Given the description of an element on the screen output the (x, y) to click on. 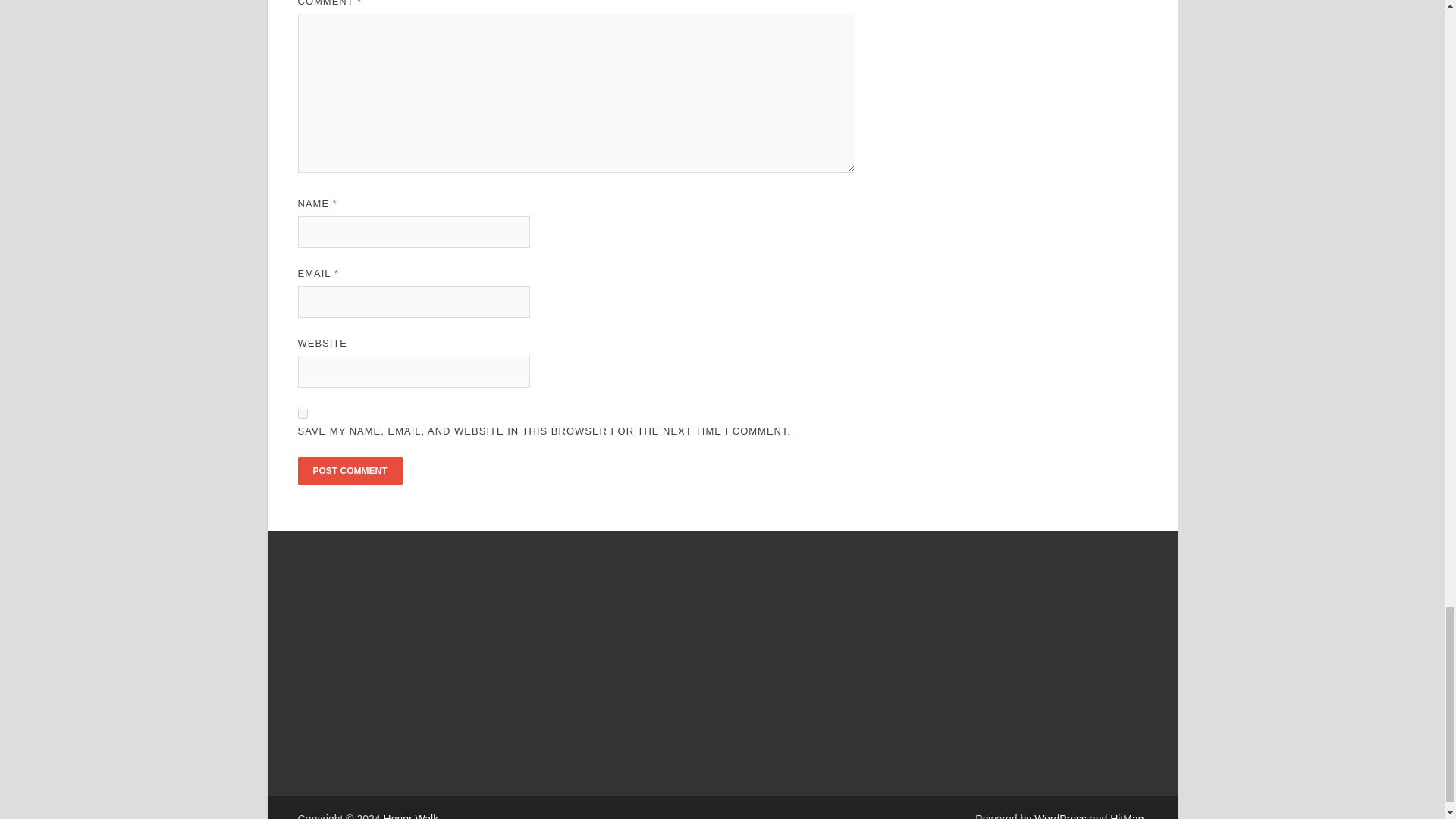
yes (302, 413)
Post Comment (349, 470)
Post Comment (349, 470)
